Given the description of an element on the screen output the (x, y) to click on. 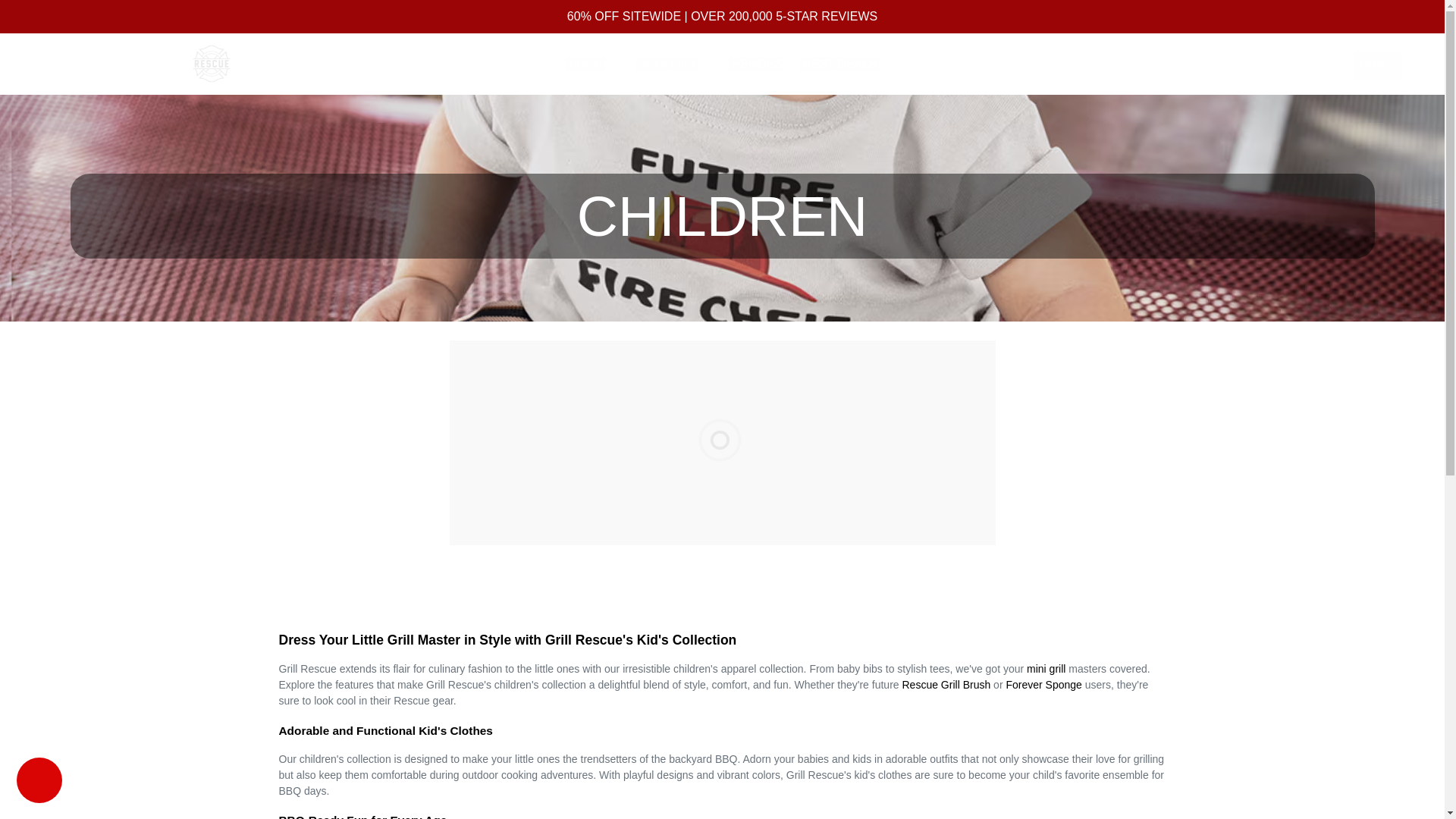
BEST DEALS (838, 64)
SUPPORT (673, 64)
Submit (1299, 63)
SHOP (592, 64)
Shopify online store chat (38, 781)
HEROES (756, 64)
